Given the description of an element on the screen output the (x, y) to click on. 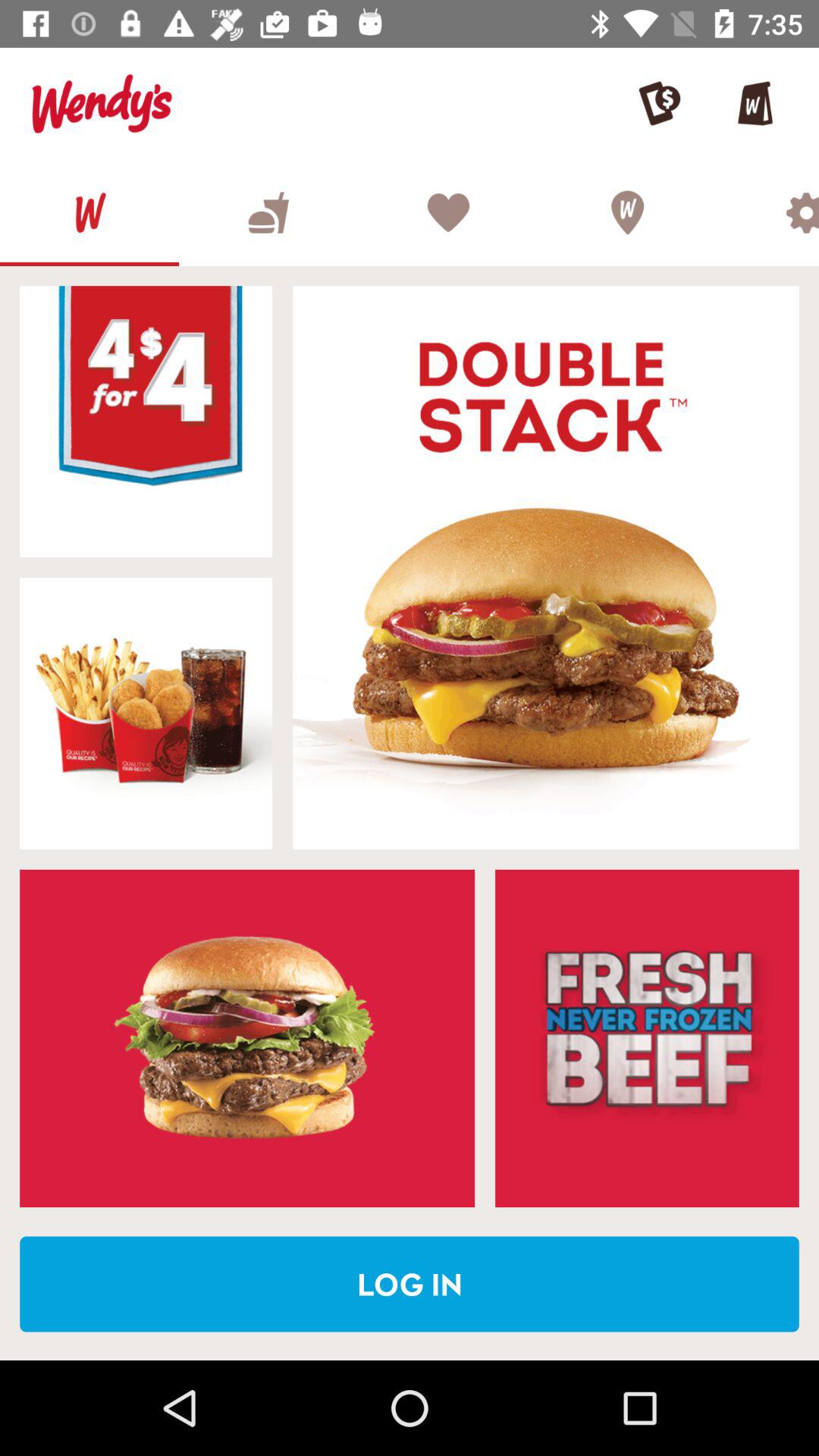
learn more (647, 1038)
